Given the description of an element on the screen output the (x, y) to click on. 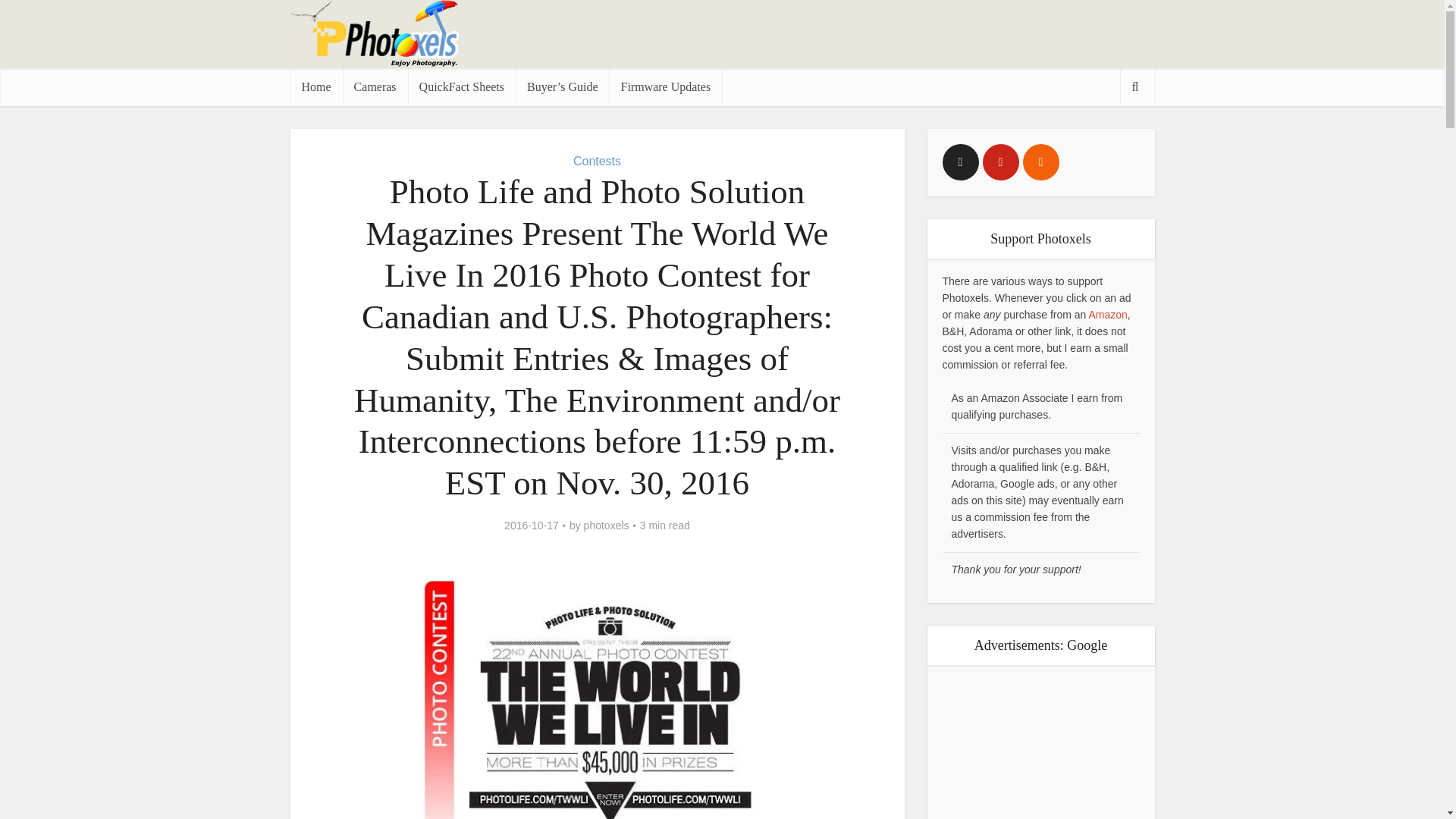
Home (315, 86)
Contests (597, 160)
photoxels (605, 525)
Firmware Updates (665, 86)
QuickFact Sheets (461, 86)
Cameras (374, 86)
